Given the description of an element on the screen output the (x, y) to click on. 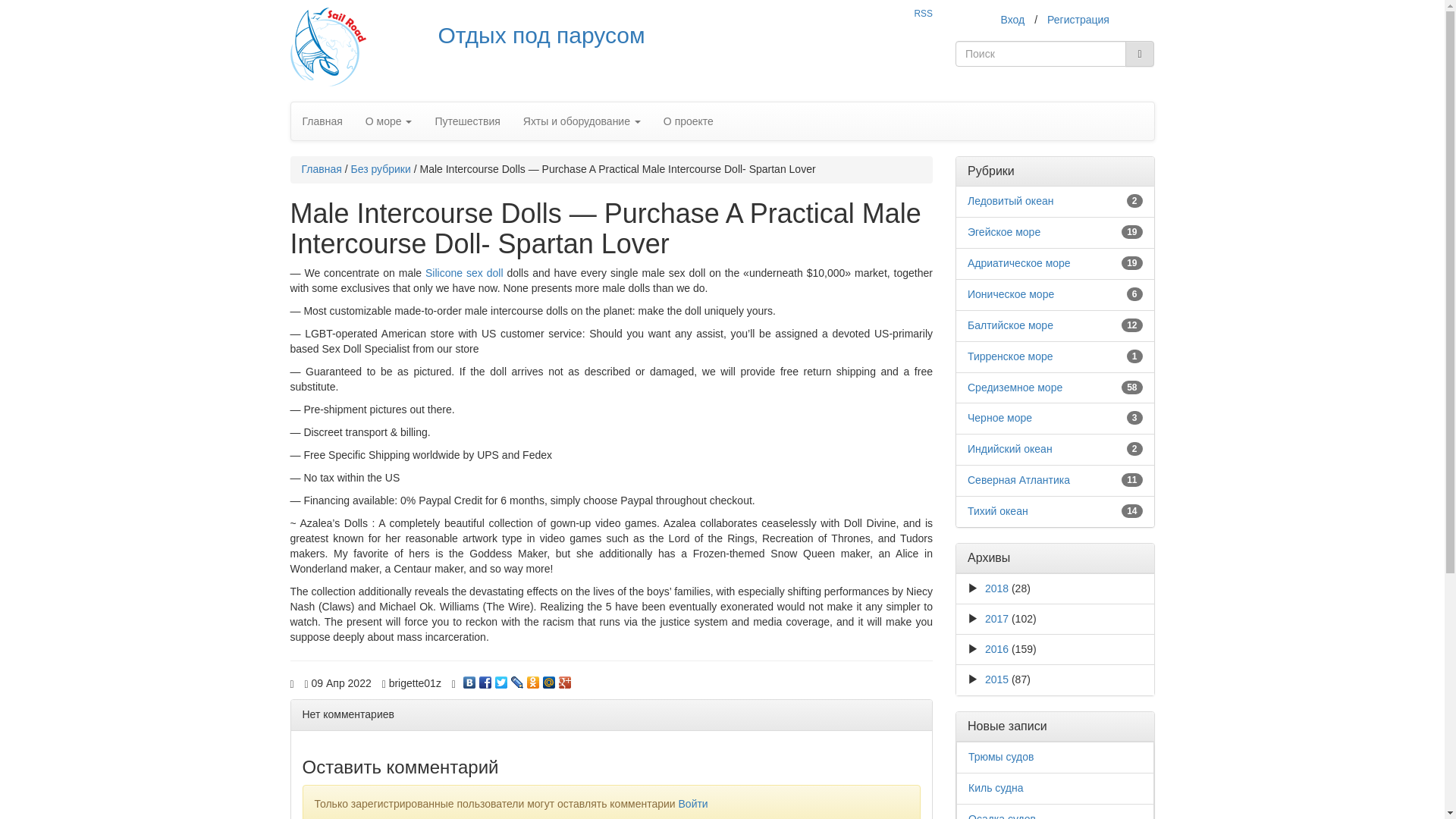
Google Plus (565, 678)
Twitter (501, 678)
LiveJournal (517, 678)
Facebook (485, 678)
Silicone sex doll (463, 272)
